Given the description of an element on the screen output the (x, y) to click on. 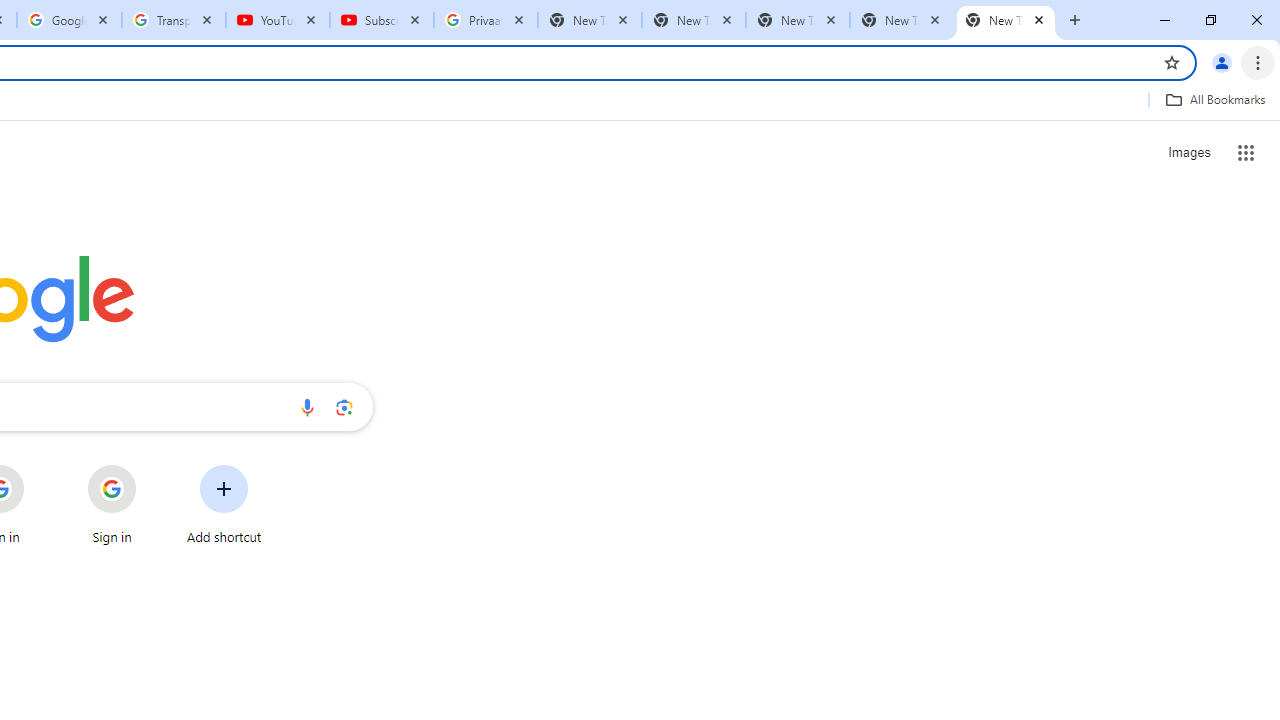
More actions for Sign in shortcut (152, 466)
New Tab (797, 20)
Subscriptions - YouTube (381, 20)
